Given the description of an element on the screen output the (x, y) to click on. 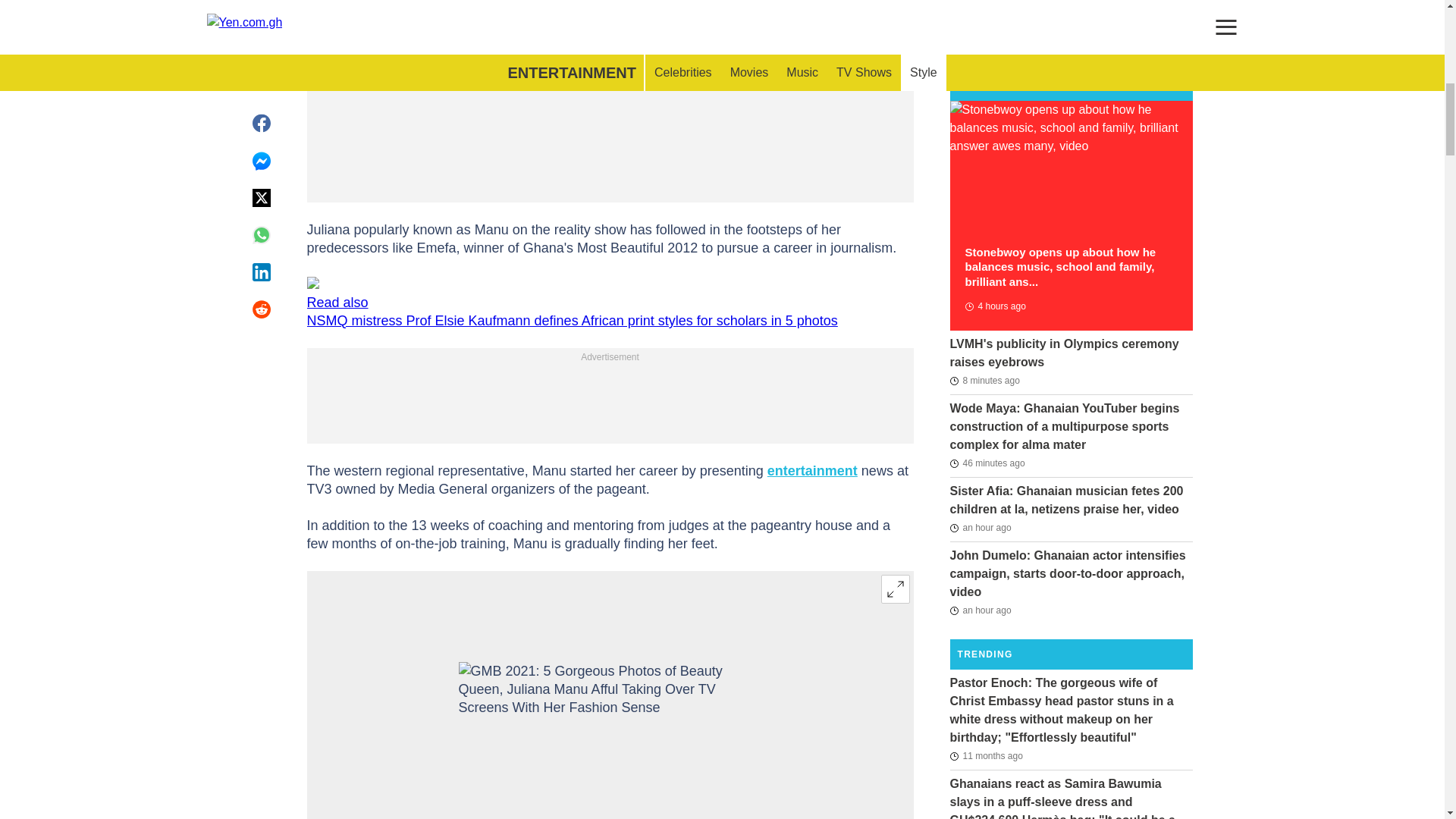
2024-07-27T16:09:42Z (987, 463)
2024-07-27T15:27:45Z (979, 610)
2024-07-27T16:48:05Z (984, 380)
2023-08-15T18:33:51Z (985, 755)
2024-07-27T12:08:29Z (994, 306)
Expand image (895, 588)
2024-07-27T15:48:00Z (979, 527)
